Given the description of an element on the screen output the (x, y) to click on. 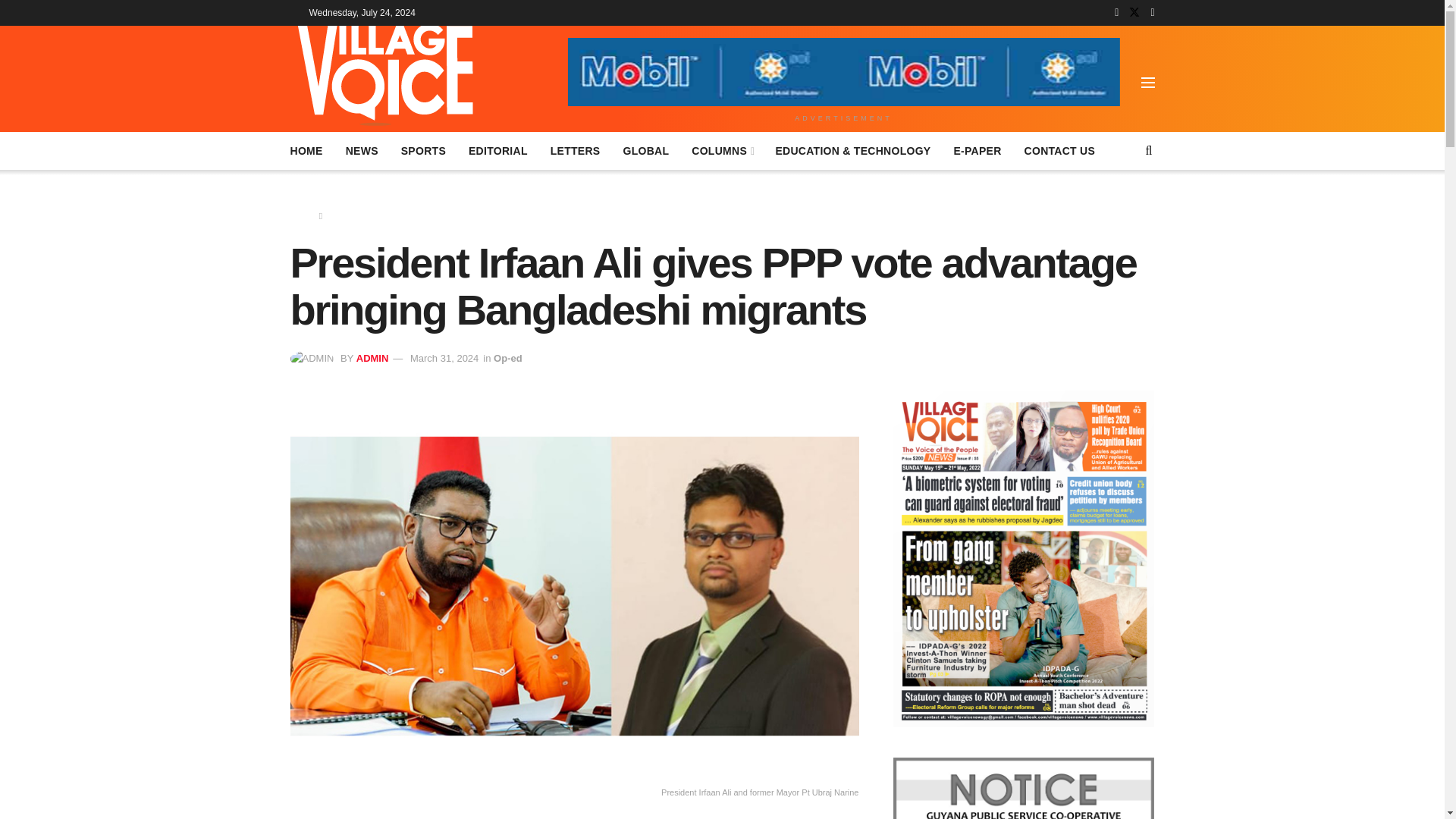
HOME (305, 150)
LETTERS (574, 150)
GLOBAL (645, 150)
SPORTS (423, 150)
E-PAPER (977, 150)
NEWS (362, 150)
COLUMNS (721, 150)
EDITORIAL (497, 150)
CONTACT US (1060, 150)
